Given the description of an element on the screen output the (x, y) to click on. 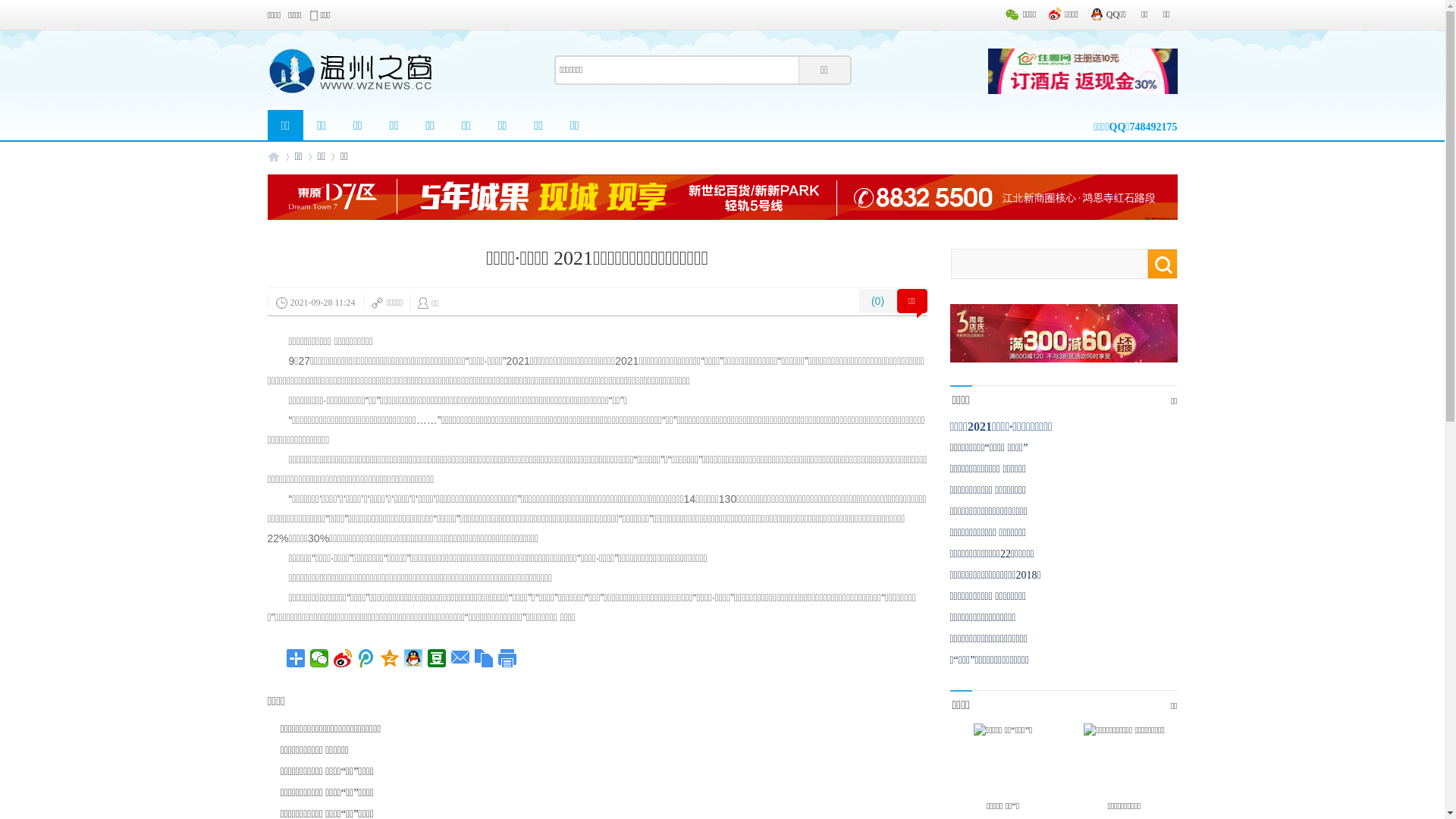
(0) Element type: text (877, 300)
